Given the description of an element on the screen output the (x, y) to click on. 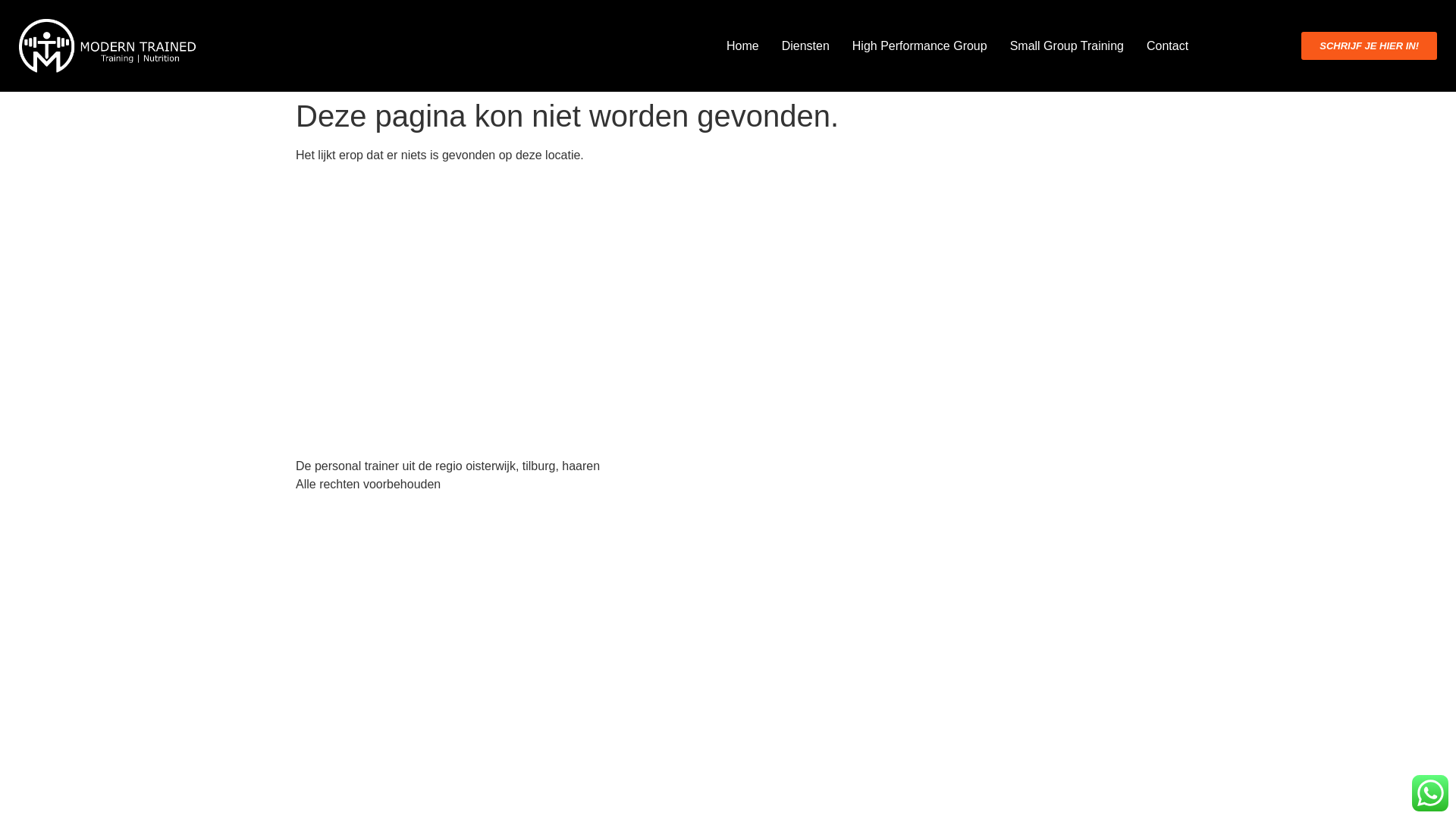
Small Group Training (1067, 45)
Home (743, 45)
Contact (1166, 45)
Diensten (805, 45)
High Performance Group (919, 45)
SCHRIJF JE HIER IN! (1369, 45)
